Given the description of an element on the screen output the (x, y) to click on. 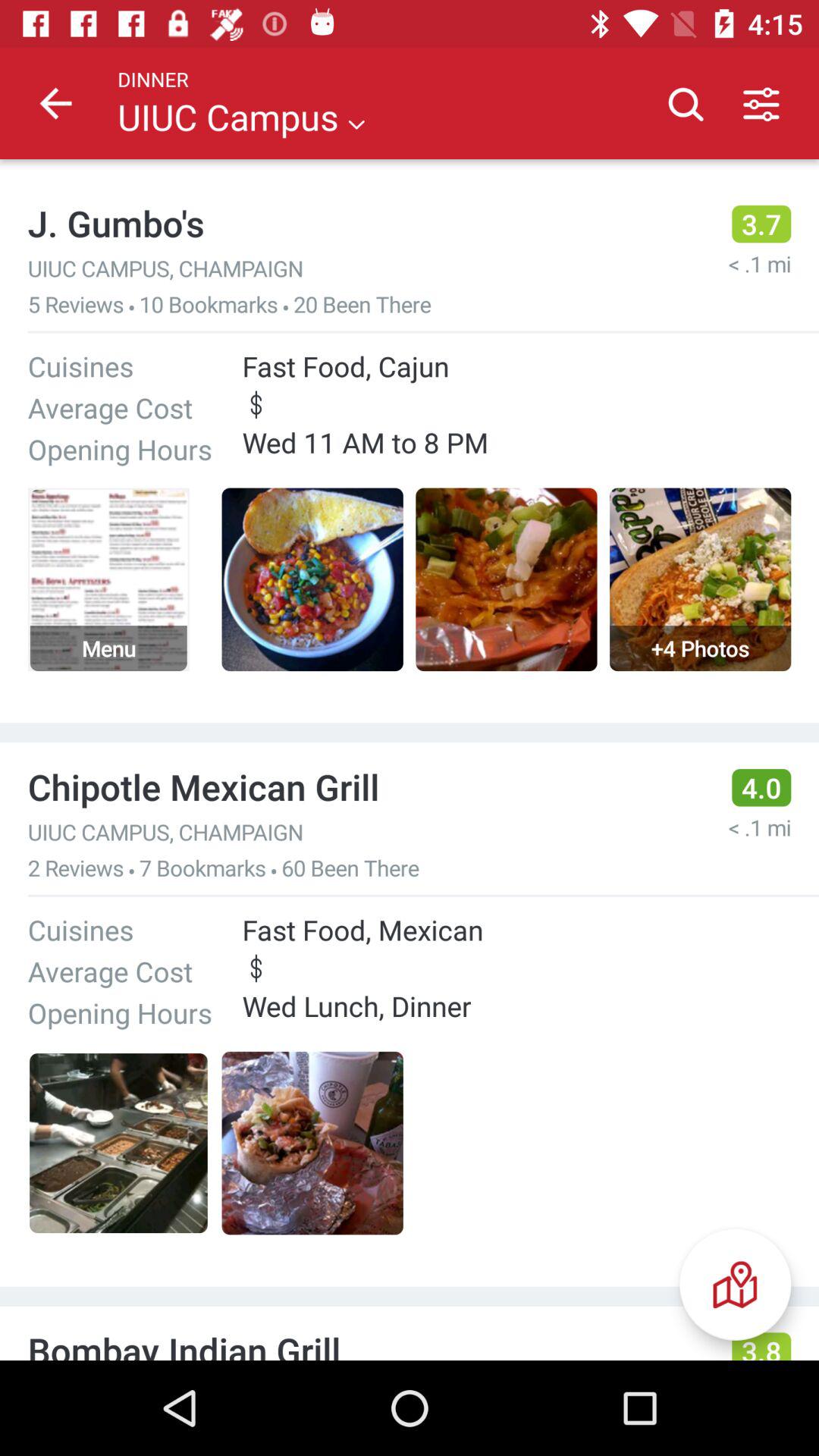
choose the icon to the left of the dinner item (55, 103)
